Given the description of an element on the screen output the (x, y) to click on. 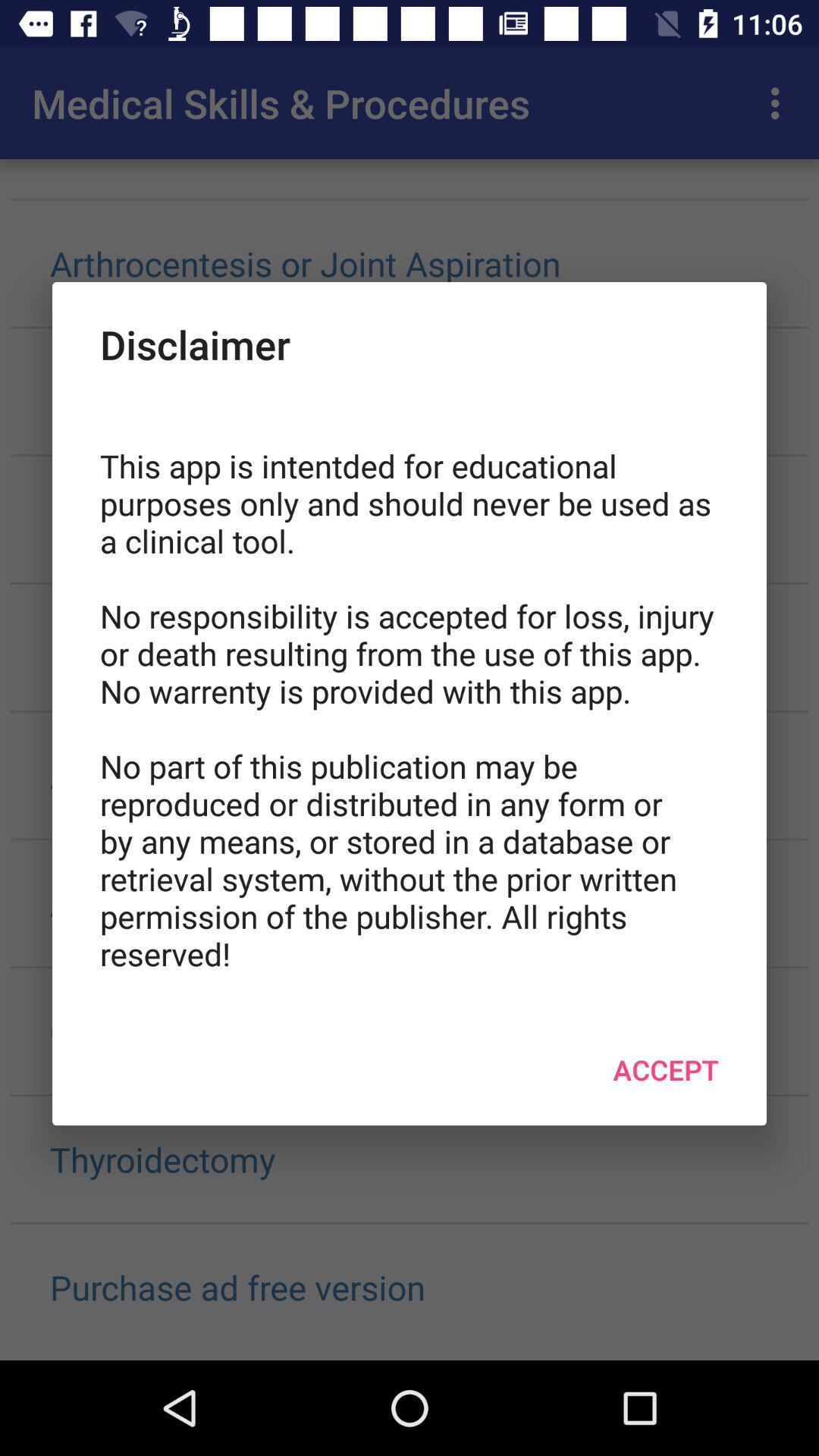
click accept item (665, 1069)
